Given the description of an element on the screen output the (x, y) to click on. 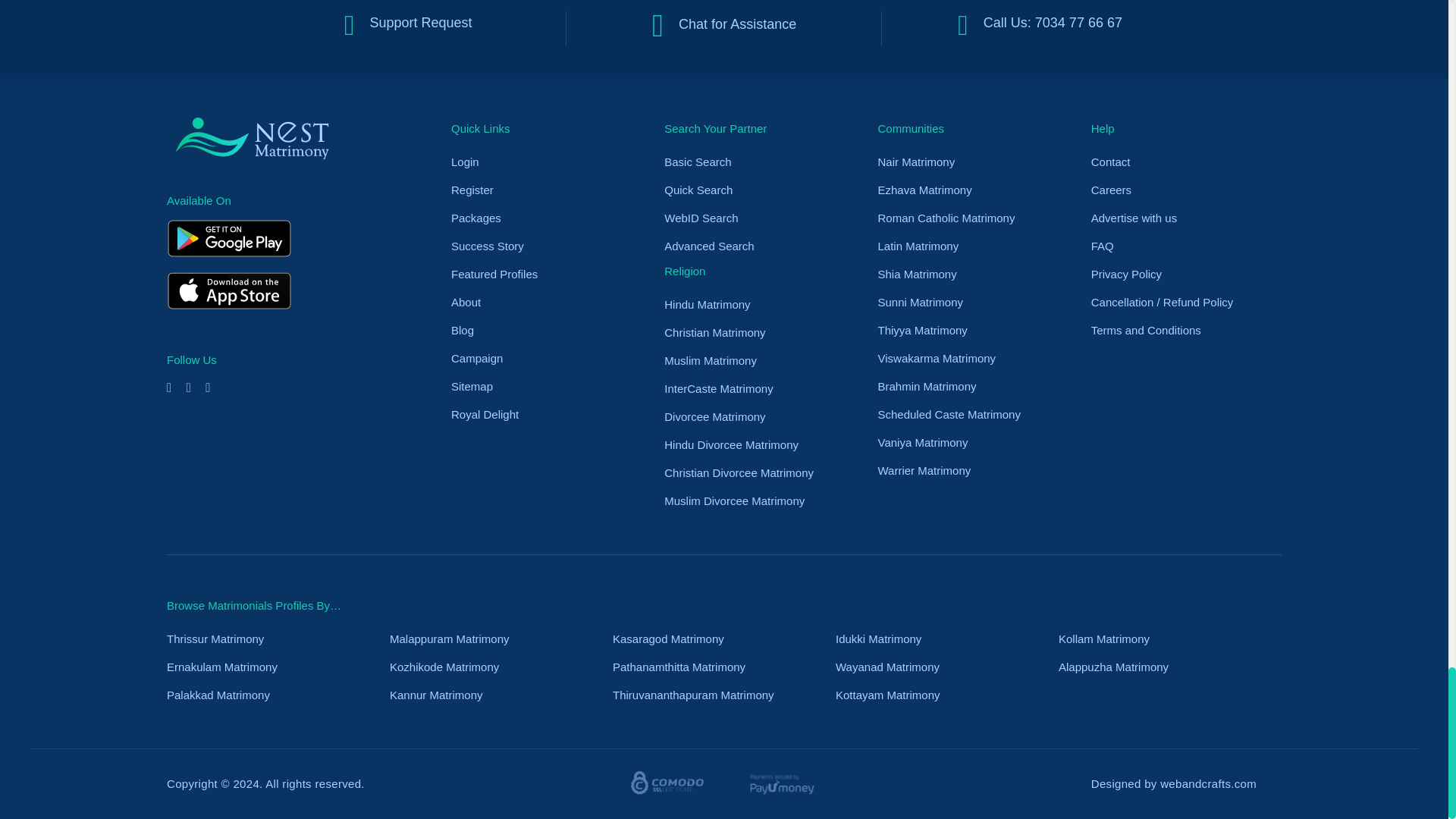
webandcrafts (1208, 783)
